Given the description of an element on the screen output the (x, y) to click on. 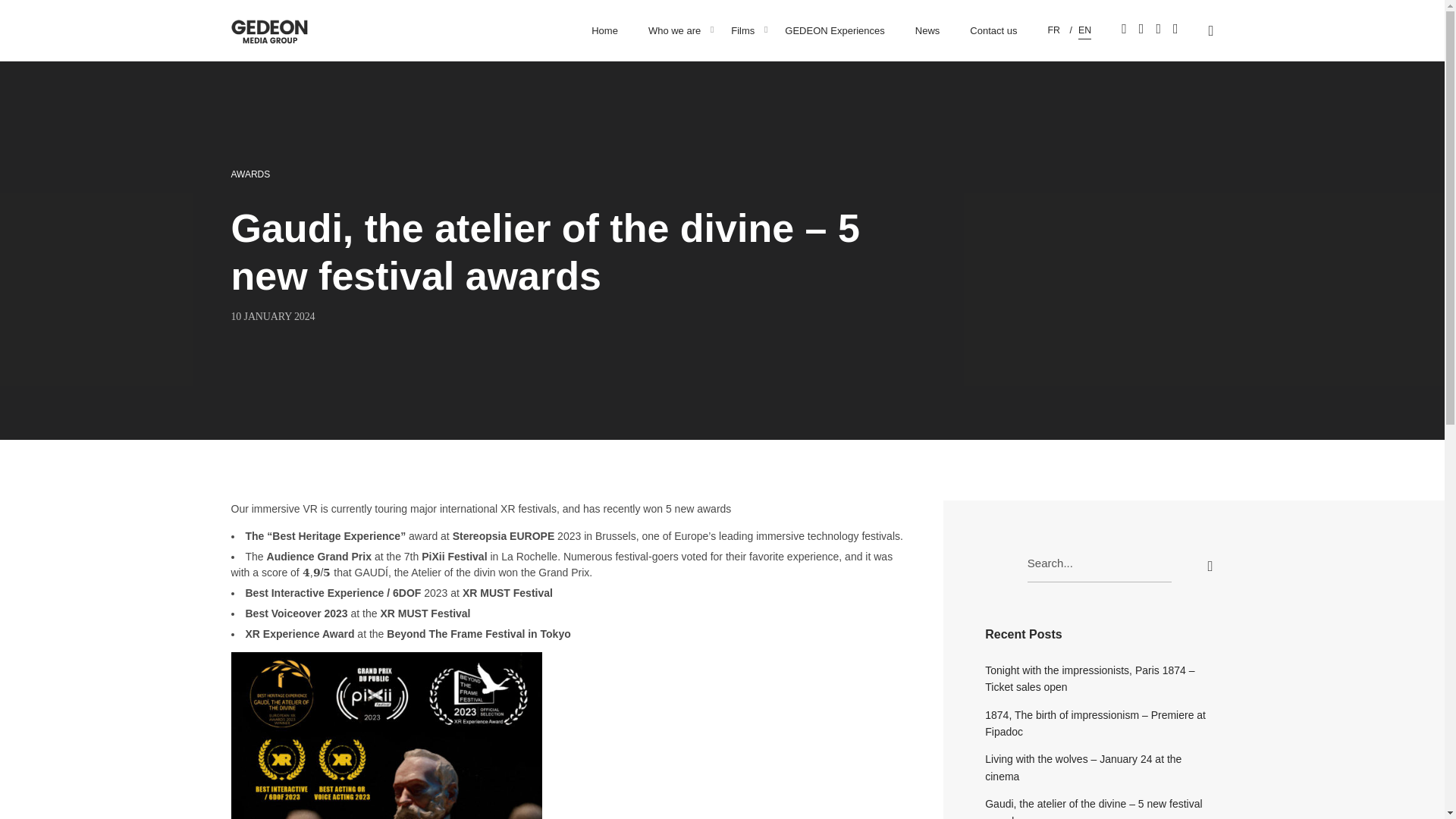
Films (743, 30)
GEDEON Experiences (834, 30)
Who we are (674, 30)
EN (1084, 30)
FR (1053, 30)
Home (604, 30)
Contact us (993, 30)
News (927, 30)
